Given the description of an element on the screen output the (x, y) to click on. 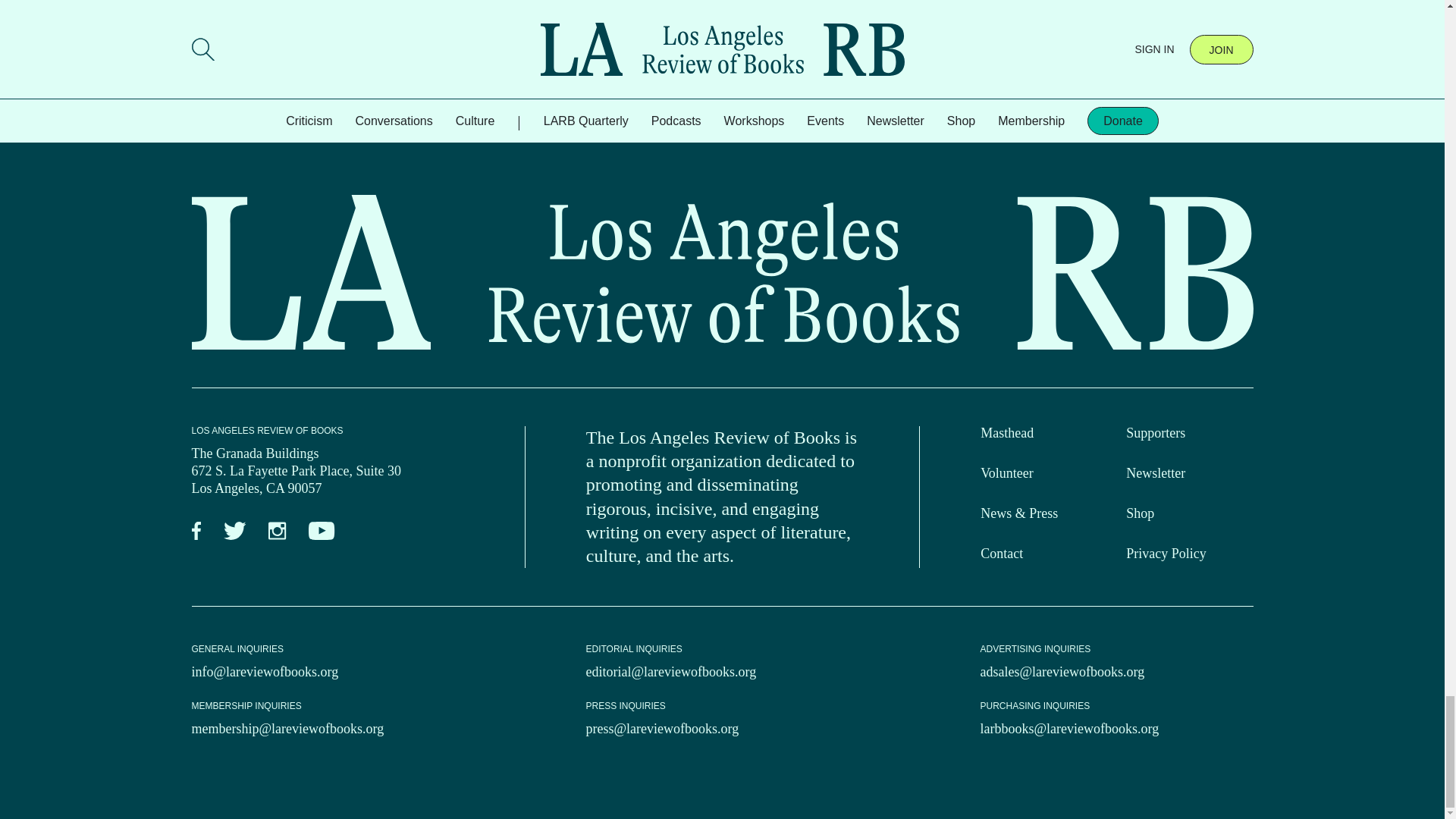
YouTube (321, 531)
